Given the description of an element on the screen output the (x, y) to click on. 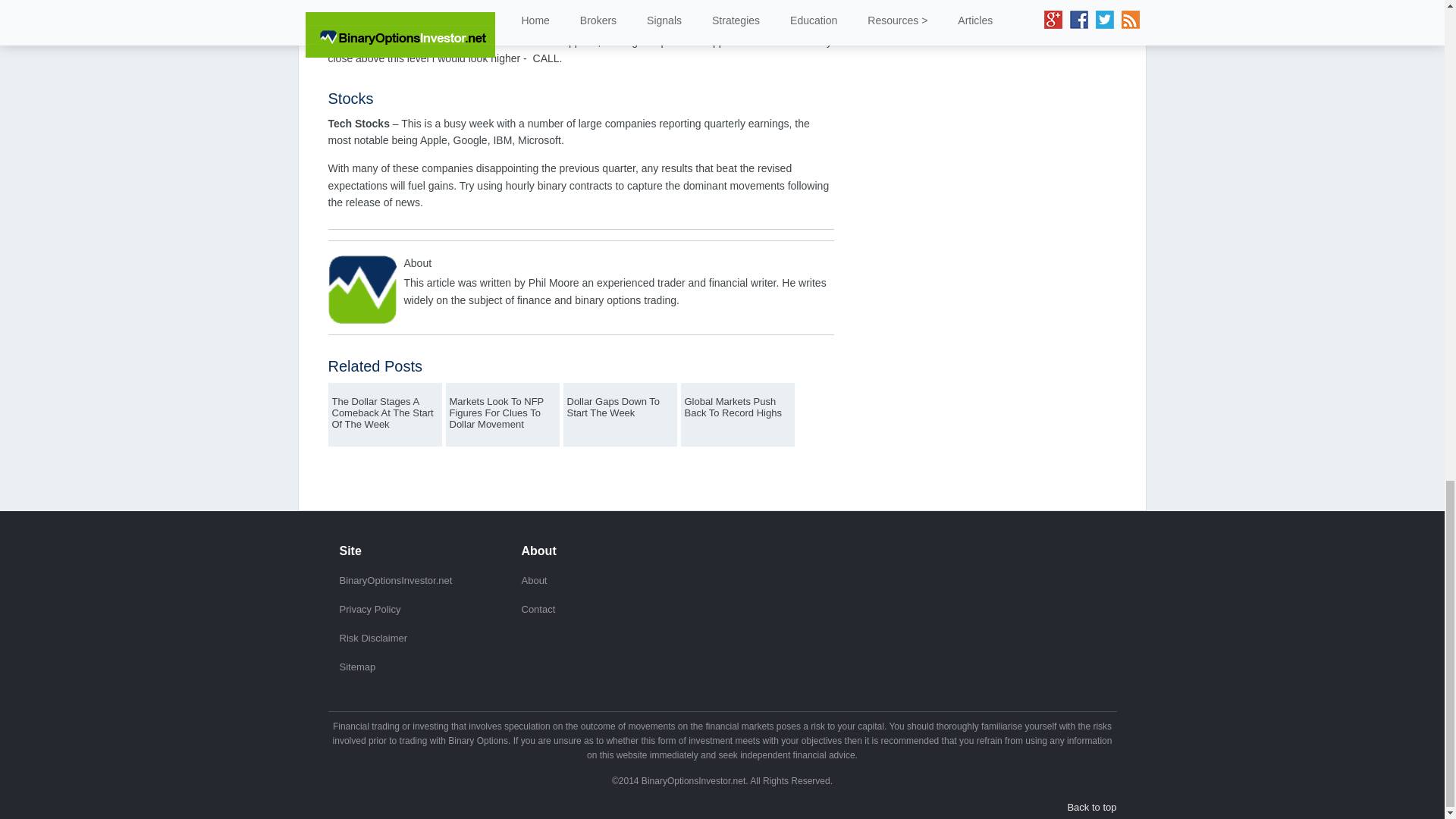
Global Markets Push Back To Record Highs (737, 414)
BinaryOptionsInvestor.net (395, 580)
Dollar Gaps Down To Start The Week (619, 414)
Privacy Policy (370, 609)
Markets Look To NFP Figures For Clues To Dollar Movement (501, 414)
The Dollar Stages A Comeback At The Start Of The Week (384, 414)
